Given the description of an element on the screen output the (x, y) to click on. 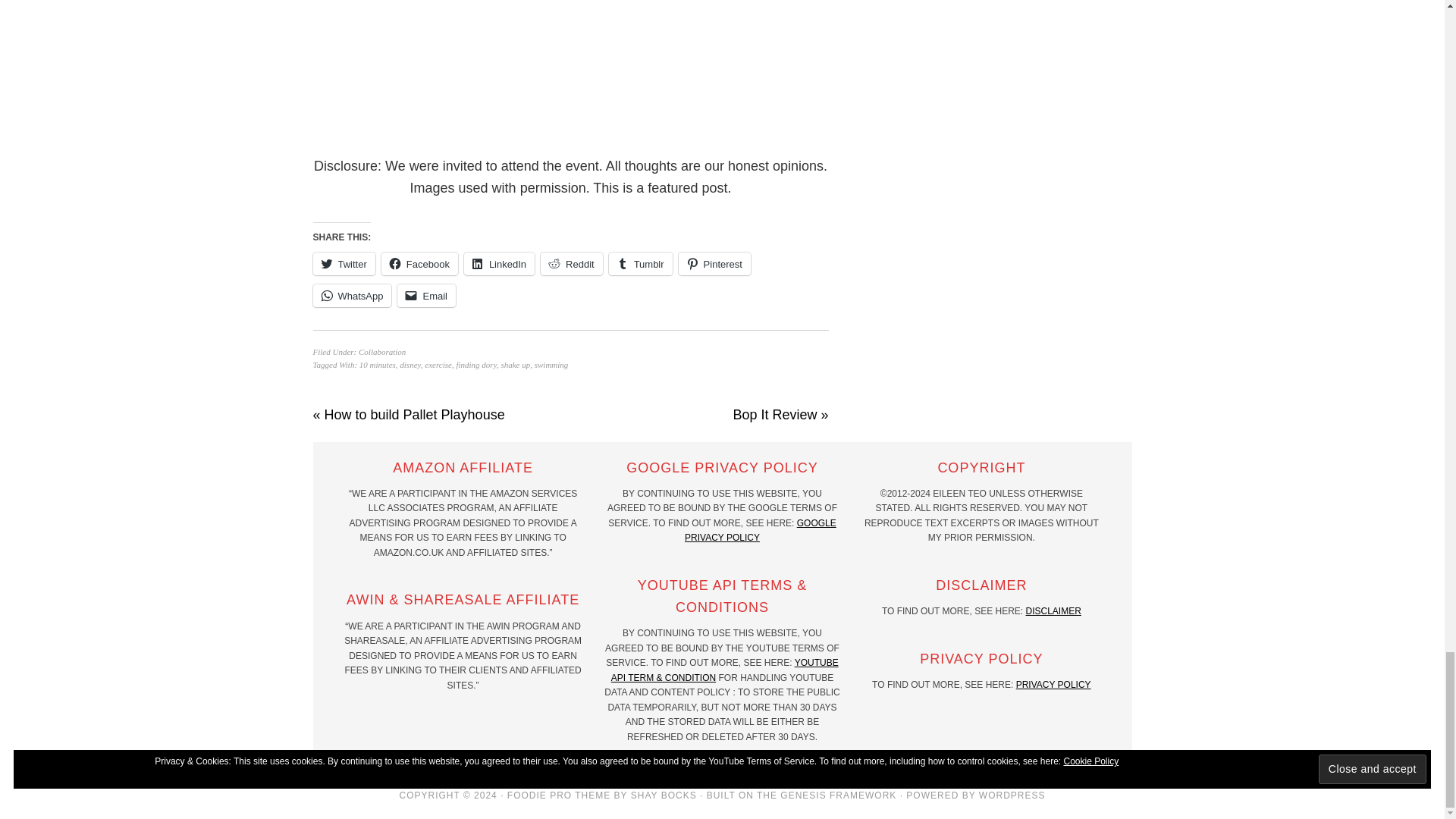
Click to share on WhatsApp (352, 295)
Click to share on Facebook (419, 263)
Click to share on LinkedIn (499, 263)
Click to share on Pinterest (714, 263)
Click to share on Twitter (343, 263)
Click to share on Tumblr (640, 263)
Click to email a link to a friend (426, 295)
Click to share on Reddit (571, 263)
